Given the description of an element on the screen output the (x, y) to click on. 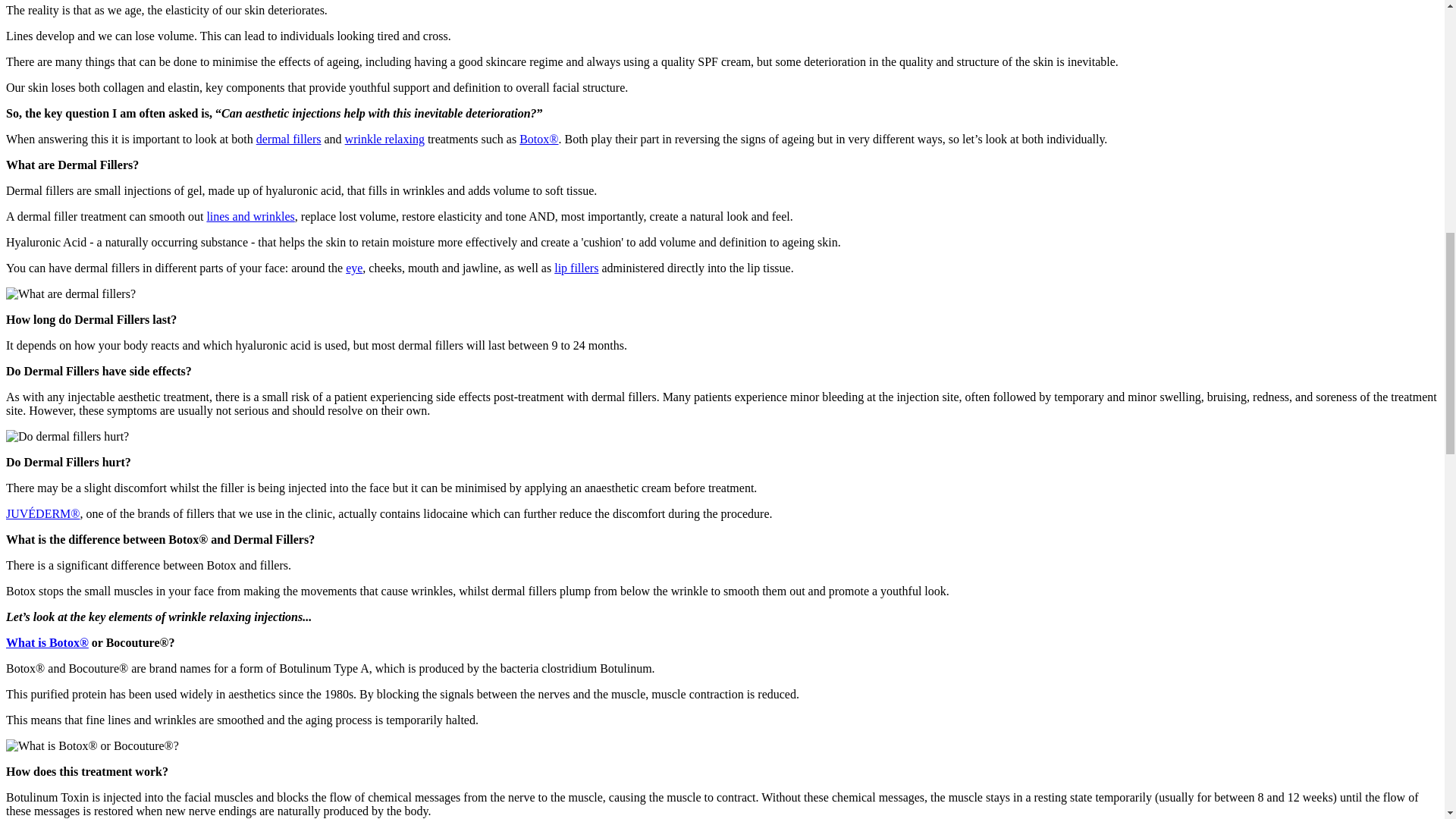
dermal fillers (288, 138)
lines and wrinkles (250, 215)
wrinkle relaxing (385, 138)
